Given the description of an element on the screen output the (x, y) to click on. 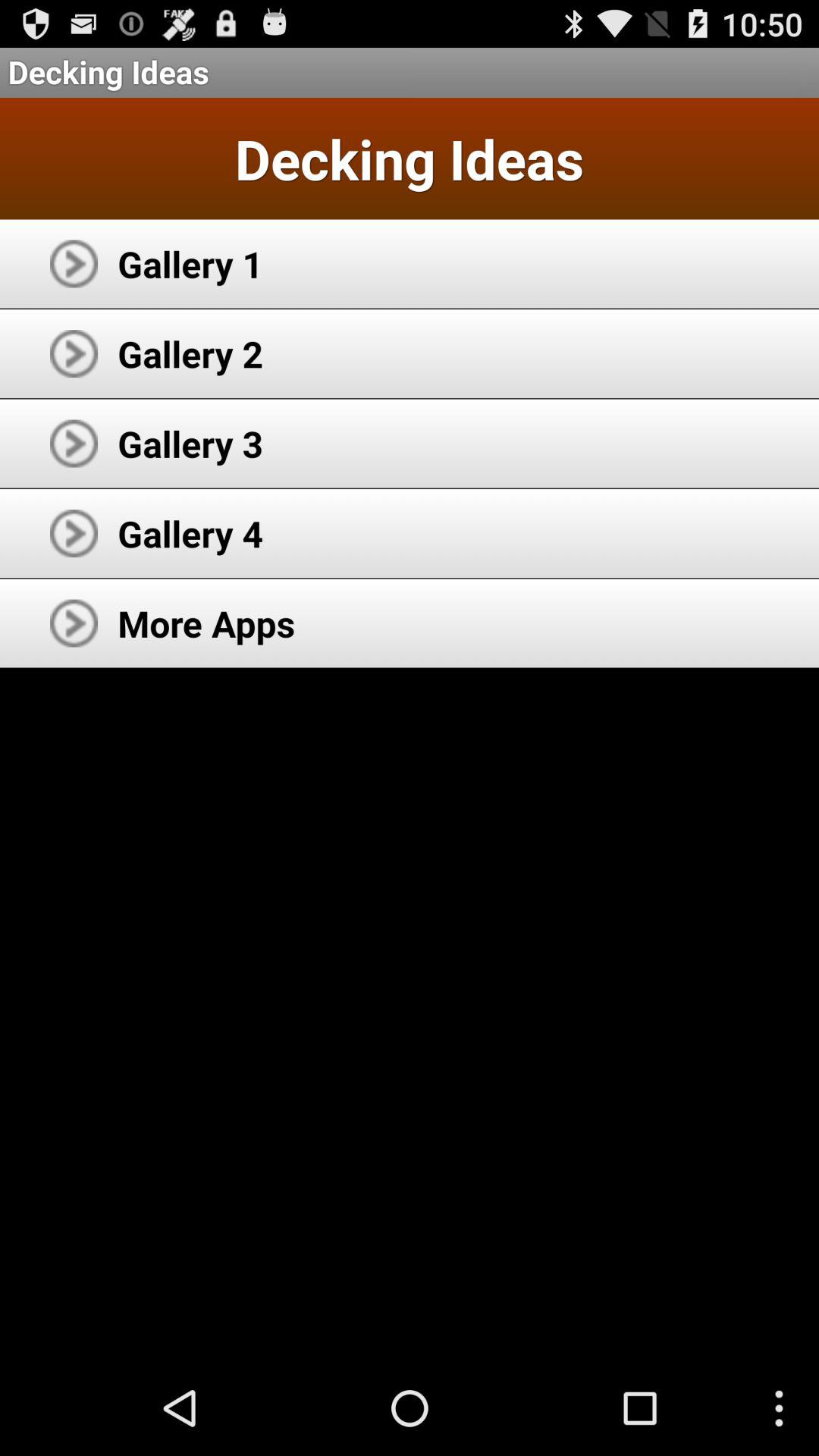
turn off app below gallery 3 app (190, 533)
